Given the description of an element on the screen output the (x, y) to click on. 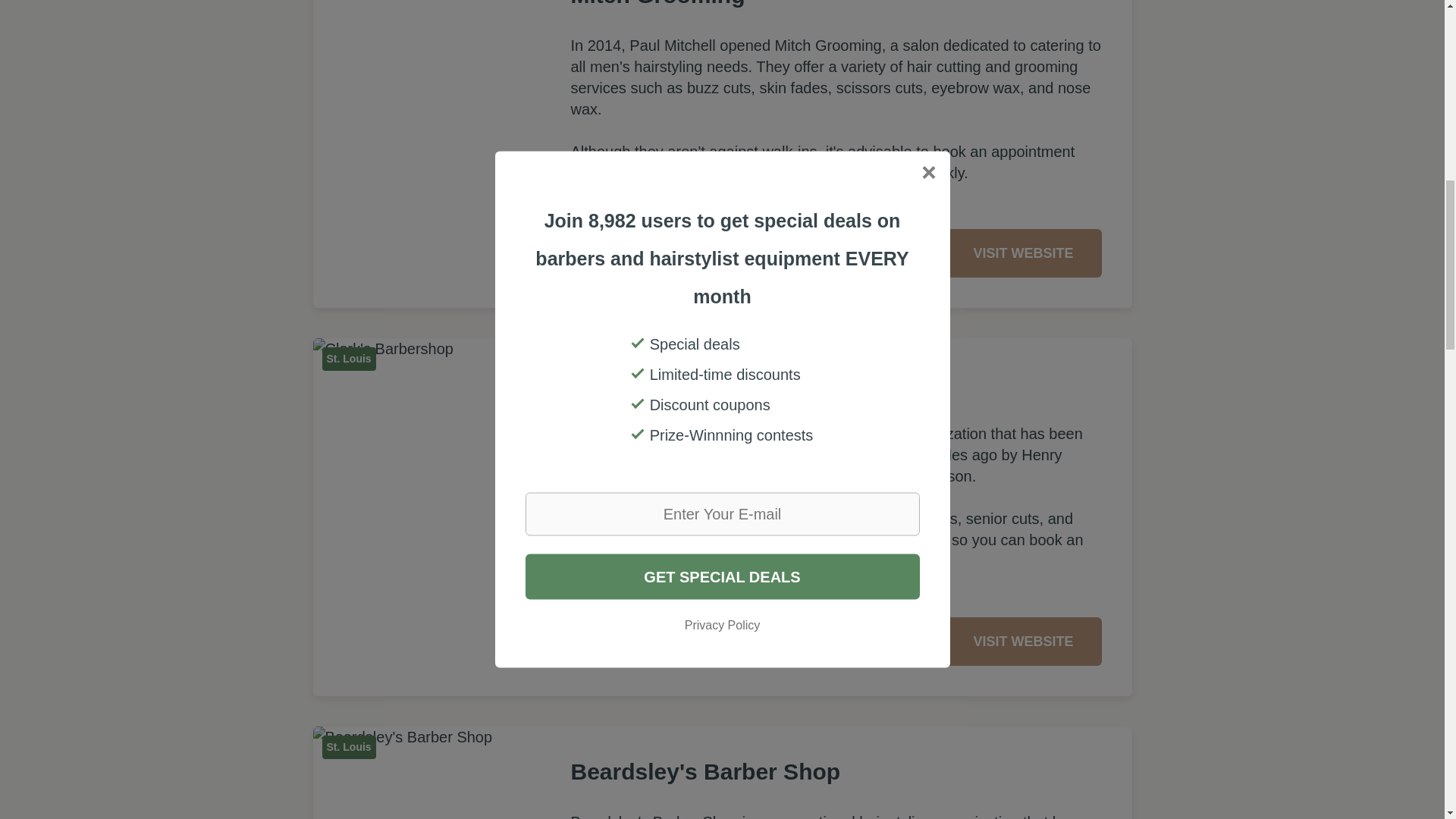
Facebook (622, 253)
Address (584, 641)
Instagram (622, 641)
Address (584, 253)
Instagram (657, 253)
